Given the description of an element on the screen output the (x, y) to click on. 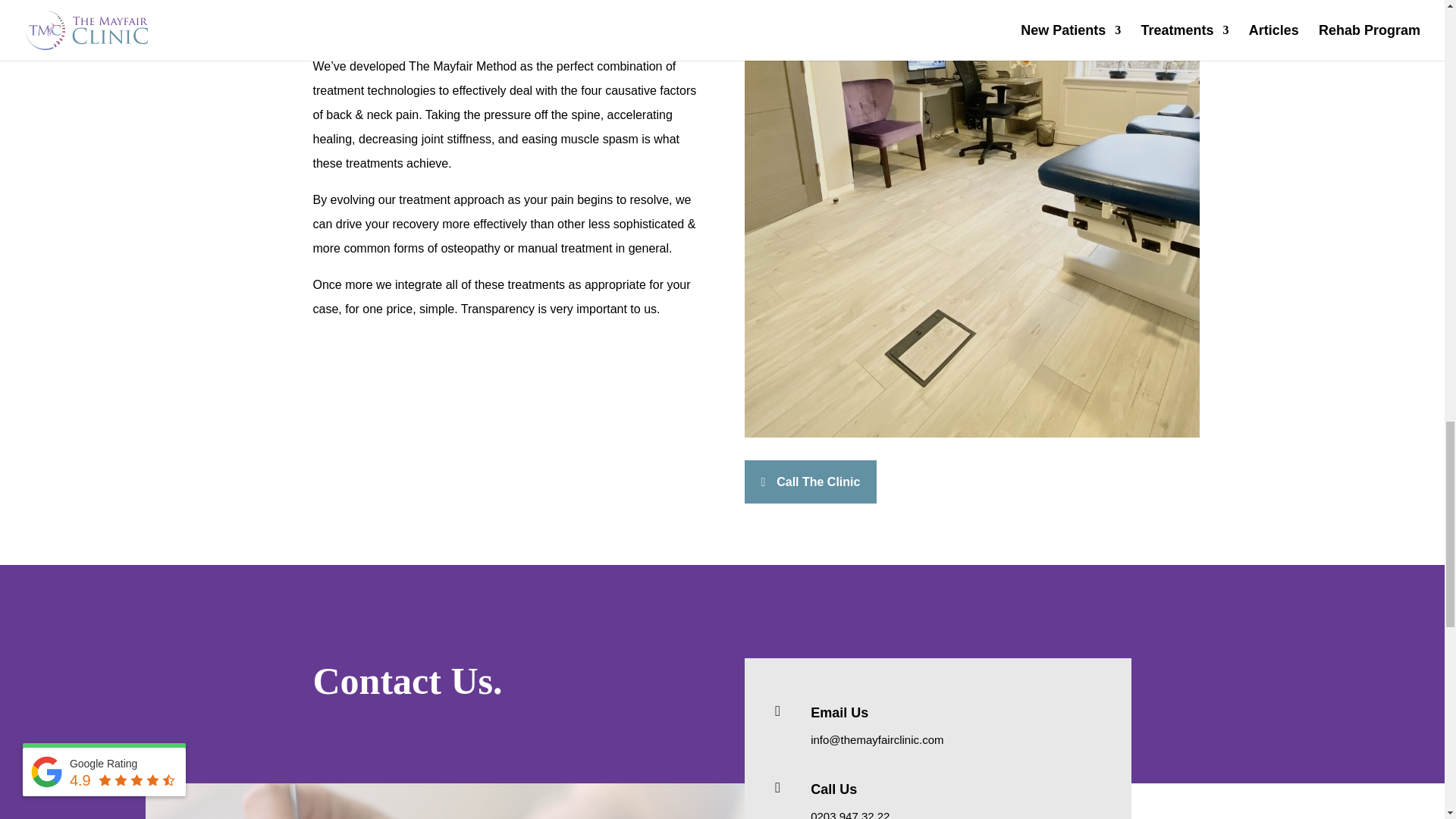
Call The Clinic (810, 481)
